Given the description of an element on the screen output the (x, y) to click on. 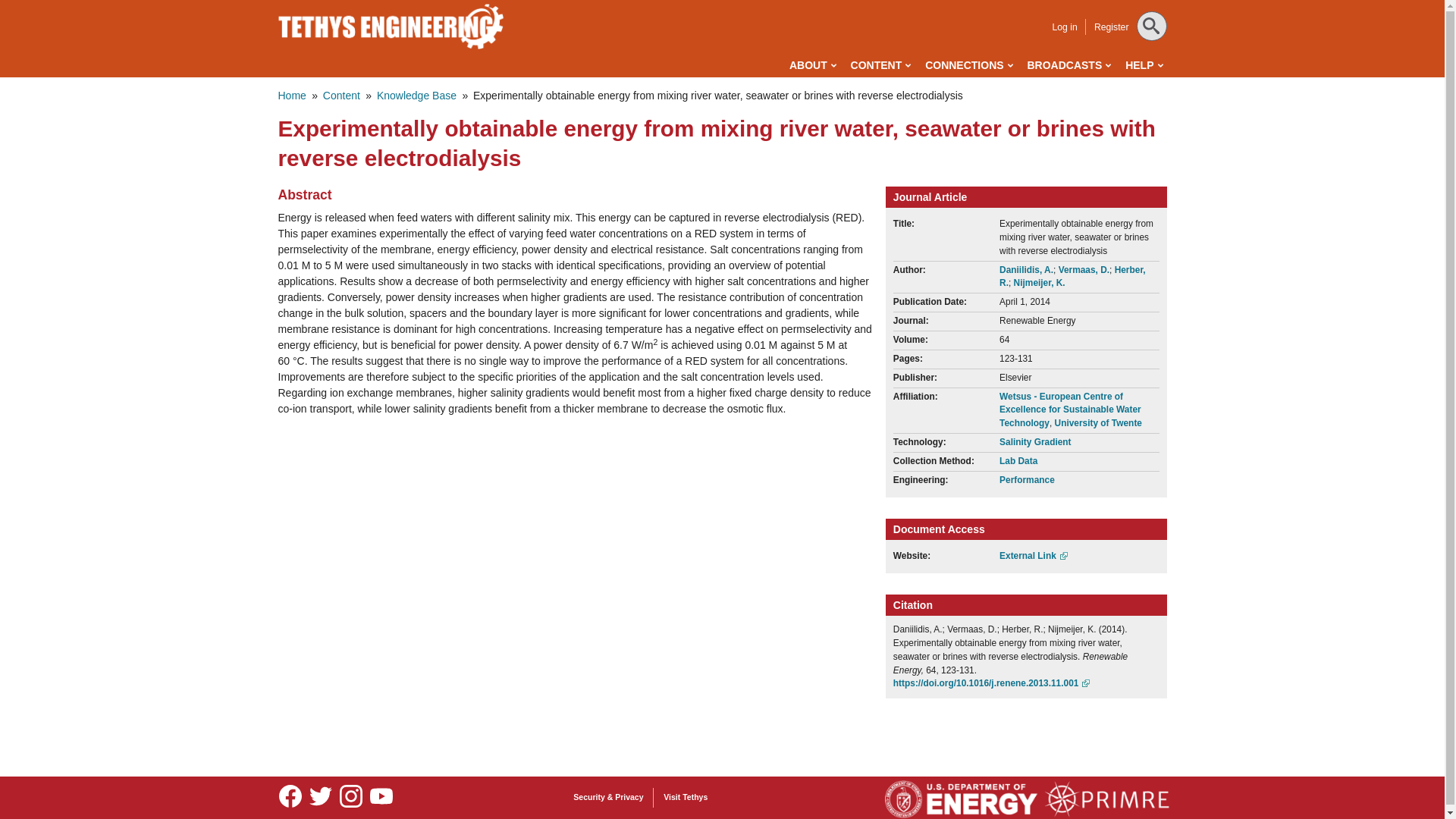
Herber, R. (1071, 276)
Home (291, 95)
Nijmeijer, K. (1039, 282)
Home (390, 26)
ABOUT (812, 65)
Instagram logo (350, 796)
BROADCASTS (1068, 65)
Performance (1026, 480)
Log in (1064, 27)
Facebook logo (290, 798)
Search (31, 14)
Daniilidis, A. (1025, 269)
HELP (1143, 65)
